Given the description of an element on the screen output the (x, y) to click on. 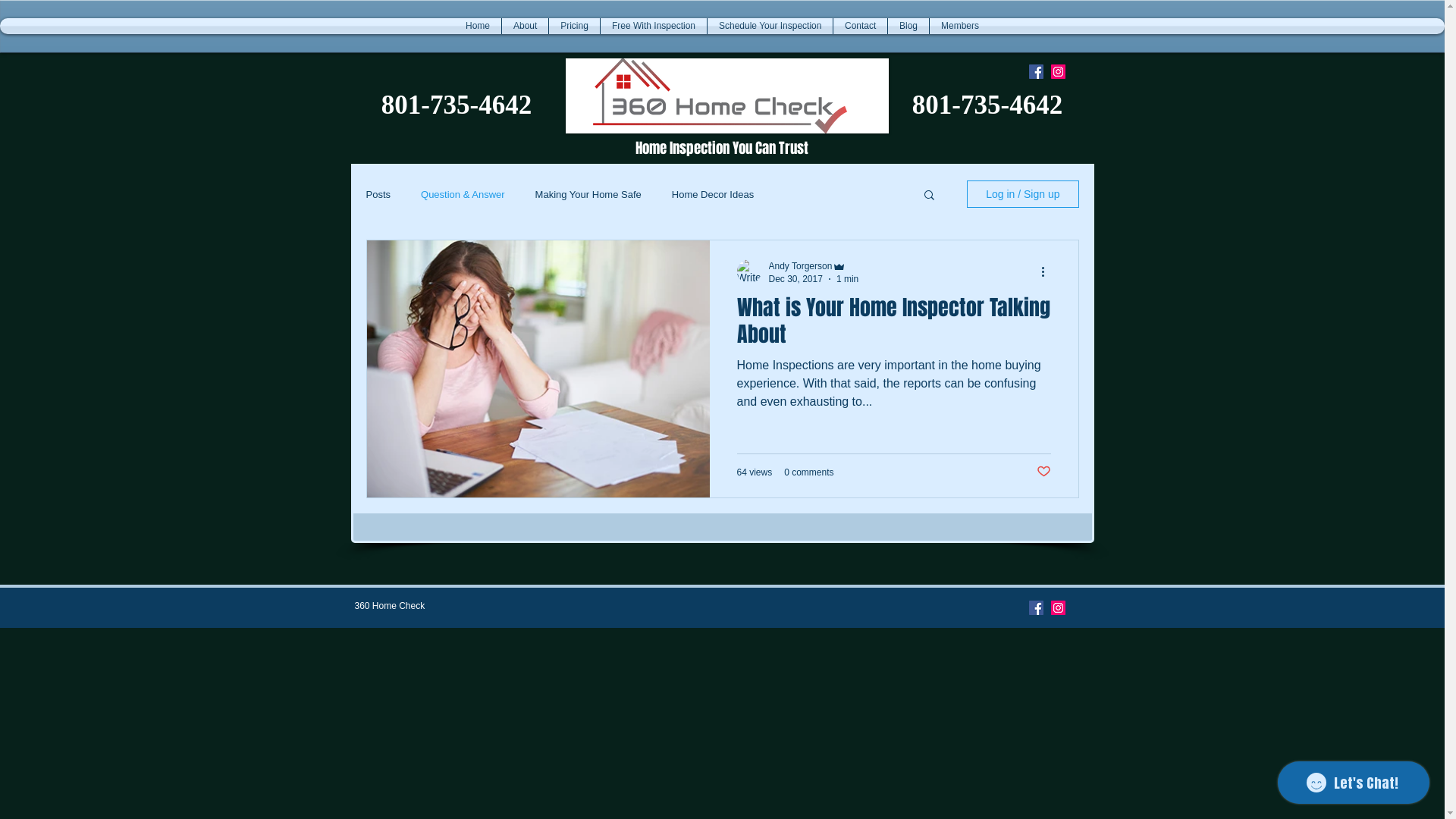
About Element type: text (525, 26)
Pricing Element type: text (574, 26)
Home Element type: text (477, 26)
Members Element type: text (959, 26)
Making Your Home Safe Element type: text (588, 193)
Question & Answer Element type: text (462, 193)
Log in / Sign up Element type: text (1022, 193)
What is Your Home Inspector Talking About Element type: text (894, 324)
0 comments Element type: text (808, 472)
Blog Element type: text (908, 26)
Contact Element type: text (860, 26)
Post not marked as liked Element type: text (1042, 472)
Home Decor Ideas Element type: text (712, 193)
Schedule Your Inspection Element type: text (769, 26)
Posts Element type: text (377, 193)
